Given the description of an element on the screen output the (x, y) to click on. 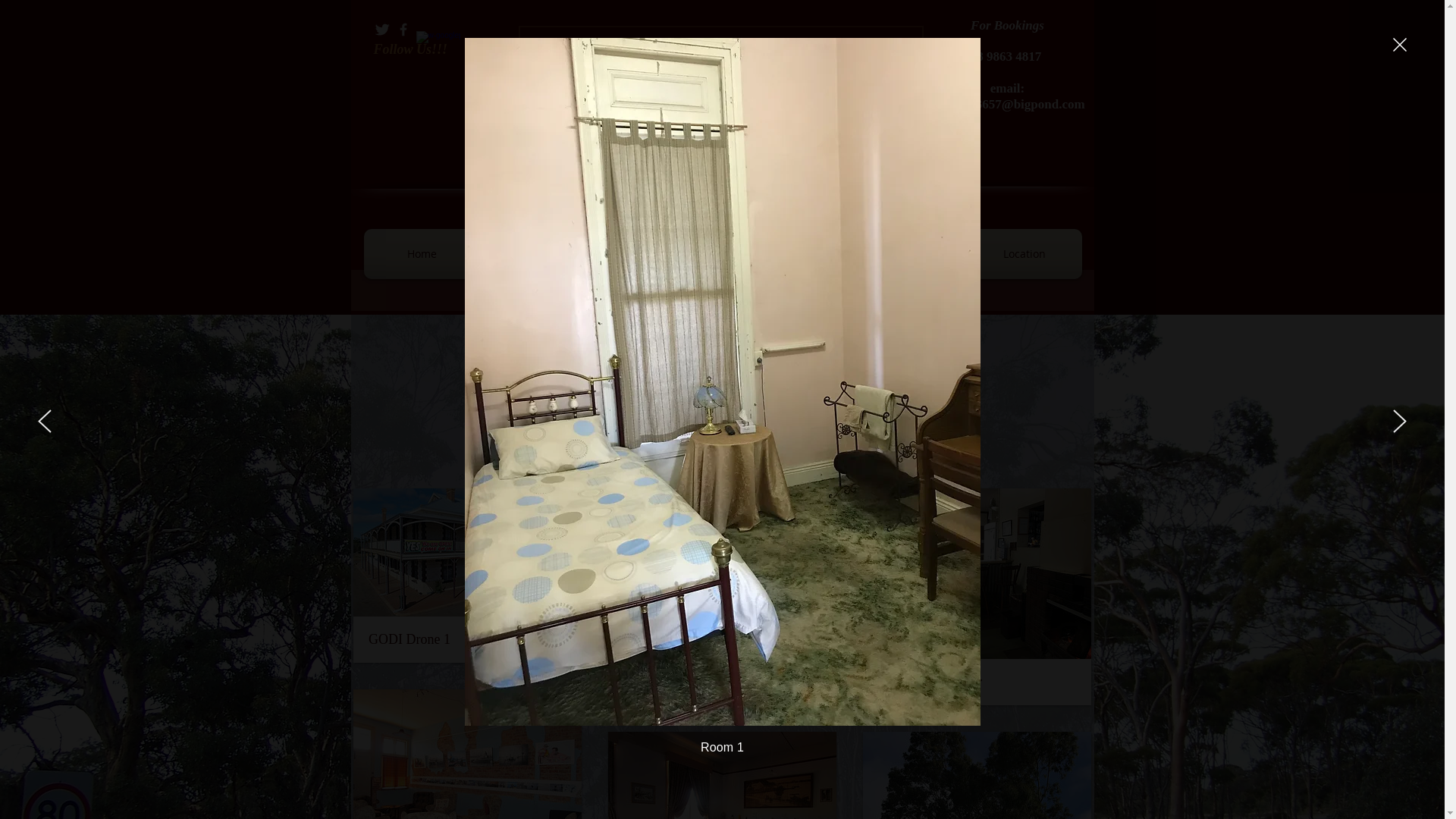
Our Property Element type: text (783, 254)
Rooms & Rates Element type: text (663, 254)
Location Element type: text (1022, 254)
sturford3657@bigpond.com Element type: text (1006, 104)
Contact us Element type: text (903, 254)
About this hotel Element type: text (543, 254)
Home Element type: text (423, 254)
